Given the description of an element on the screen output the (x, y) to click on. 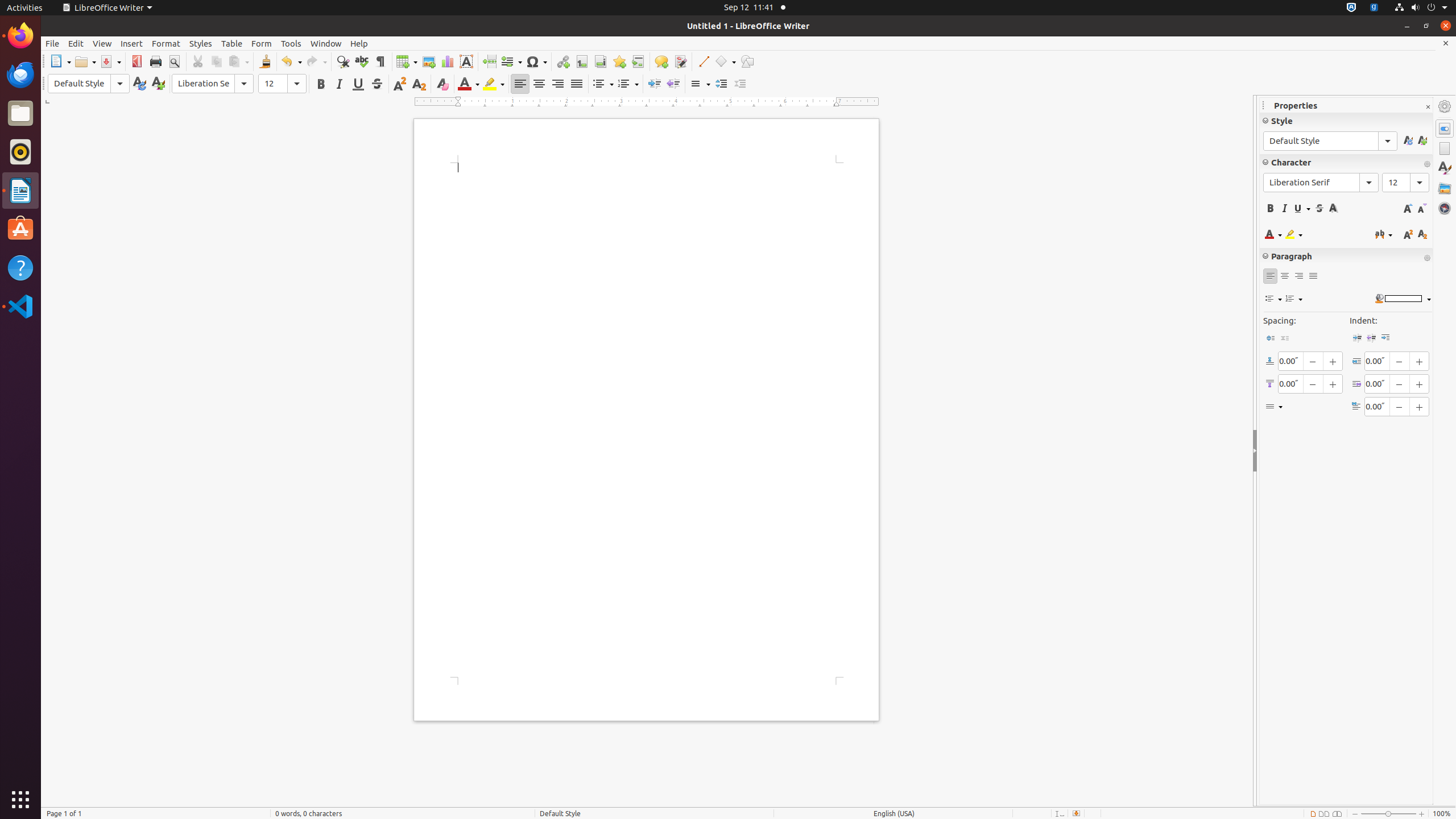
Clear Element type: push-button (441, 83)
Spelling Element type: push-button (361, 61)
More Options Element type: push-button (1426, 257)
Horizontal Ruler Element type: ruler (646, 101)
Justified Element type: toggle-button (576, 83)
